Given the description of an element on the screen output the (x, y) to click on. 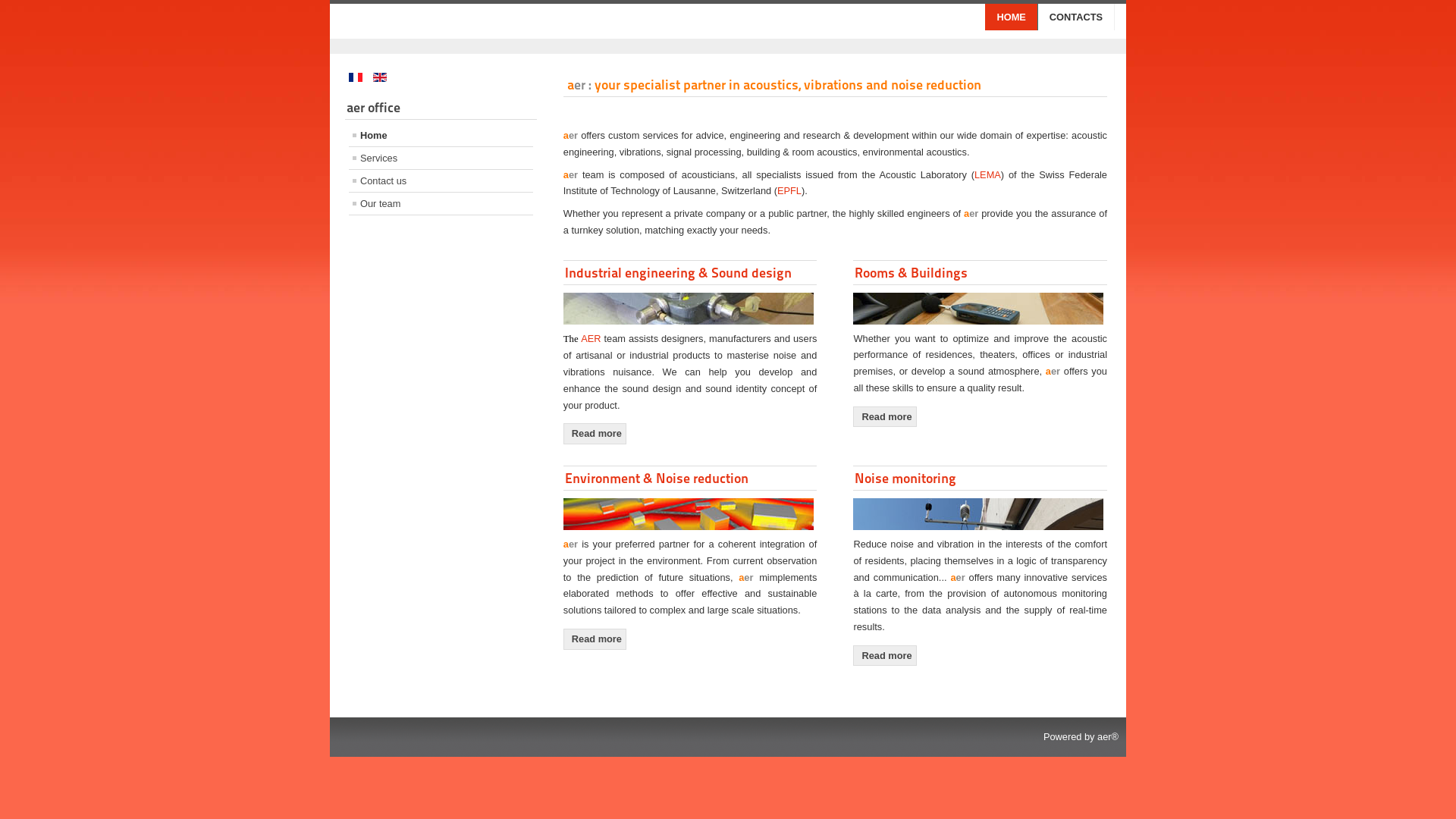
HOME Element type: text (1011, 16)
Read more Element type: text (884, 655)
LEMA Element type: text (987, 174)
CONTACTS Element type: text (1076, 16)
Contact us Element type: text (440, 180)
Noise monitoring Element type: text (905, 478)
Environment & Noise reduction Element type: text (656, 478)
Services Element type: text (440, 158)
Read more Element type: text (594, 638)
Read more Element type: text (594, 433)
English (UK) Element type: hover (379, 76)
Read more Element type: text (884, 416)
Our team Element type: text (440, 203)
Rooms & Buildings Element type: text (910, 272)
EPFL Element type: text (789, 190)
Home Element type: text (440, 135)
Industrial engineering & Sound design Element type: text (677, 272)
